Given the description of an element on the screen output the (x, y) to click on. 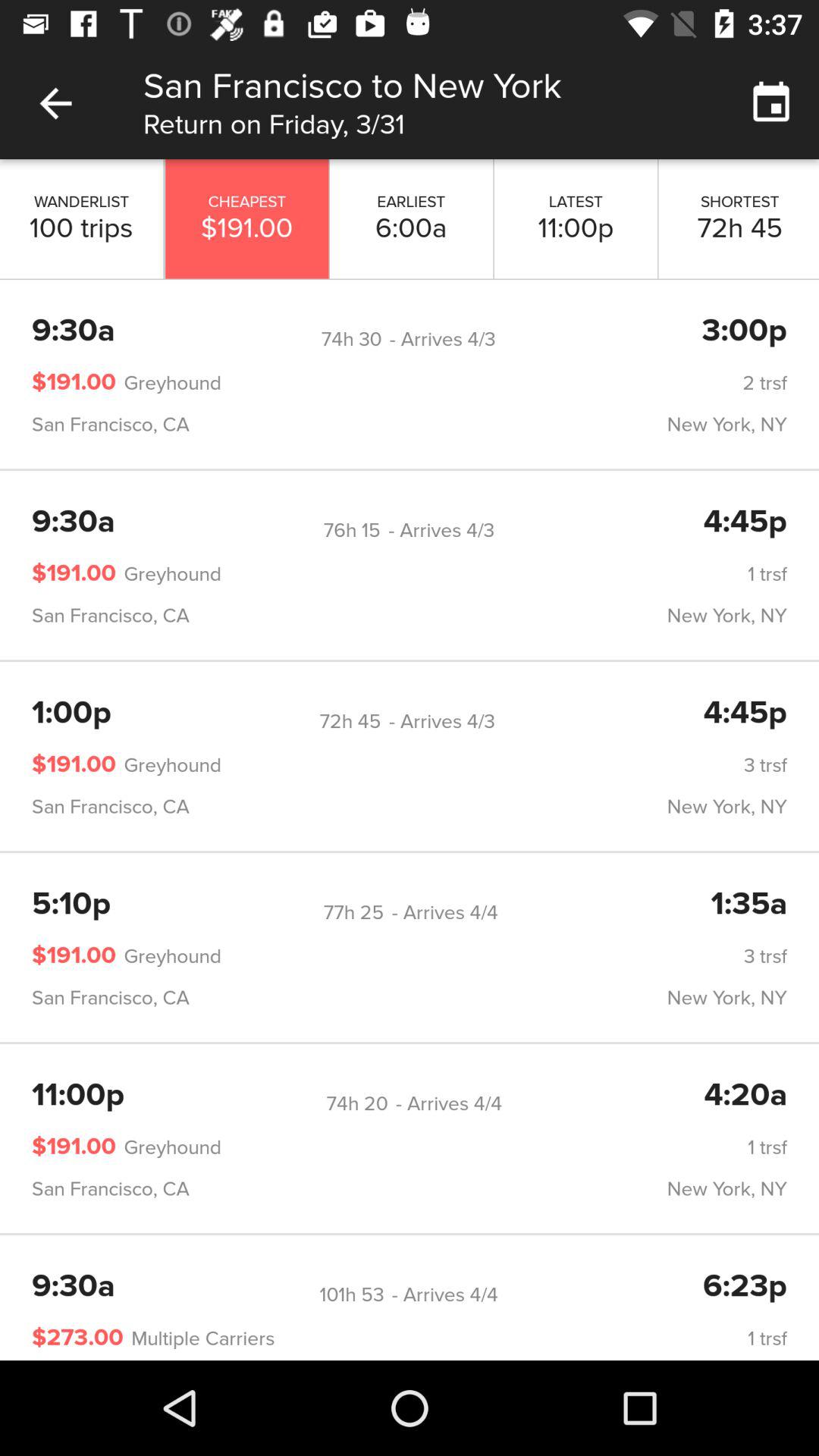
back button (55, 103)
